Given the description of an element on the screen output the (x, y) to click on. 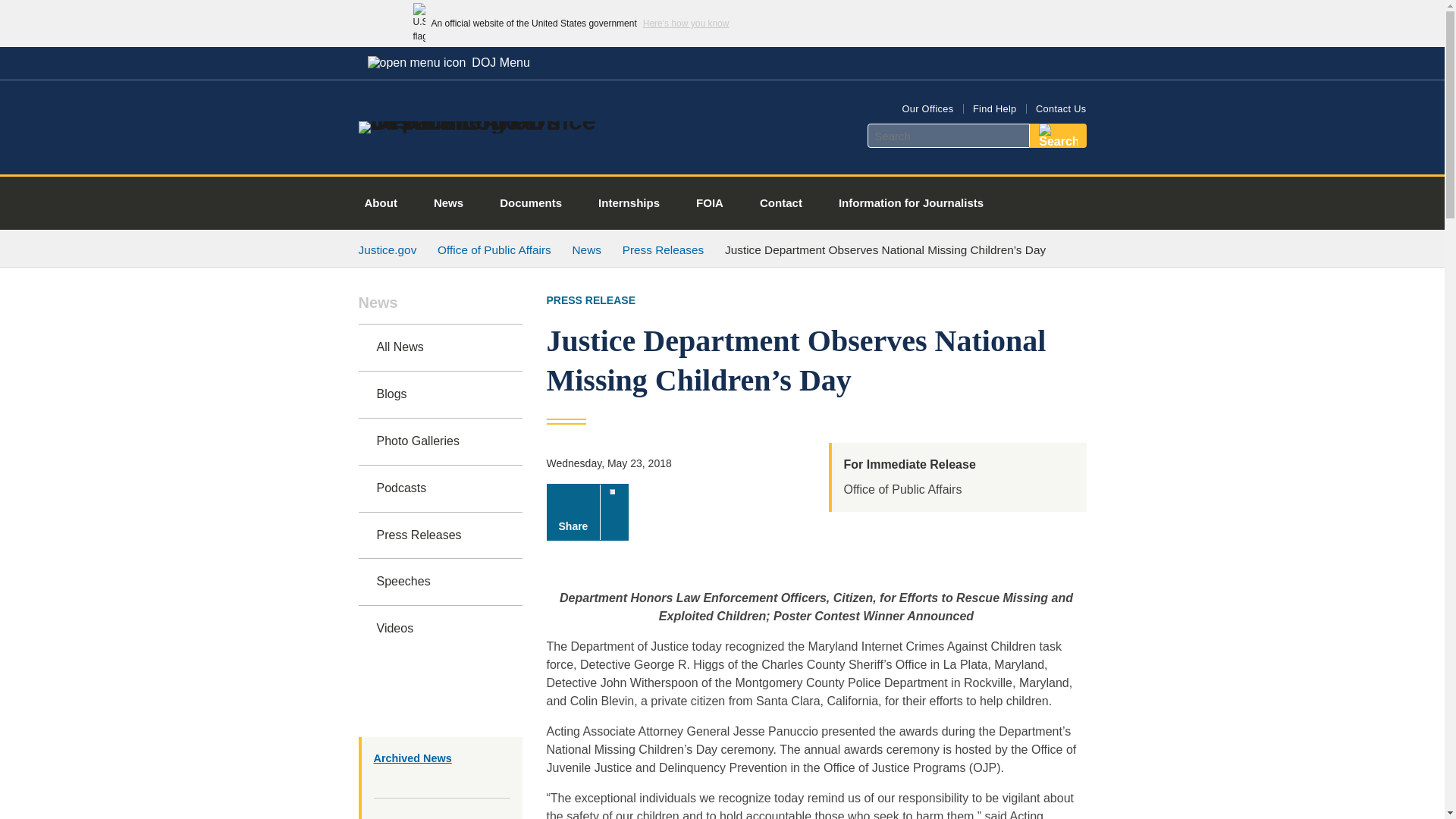
Podcasts (439, 488)
Information for Journalists (911, 203)
DOJ Menu (448, 62)
FOIA (709, 203)
News (439, 309)
Justice.gov (387, 249)
Blogs (439, 394)
News (586, 249)
Office of Public Affairs (494, 249)
News (447, 203)
Find Help (994, 108)
Press Releases (663, 249)
Photo Galleries (439, 441)
Here's how you know (686, 23)
Home (481, 121)
